Given the description of an element on the screen output the (x, y) to click on. 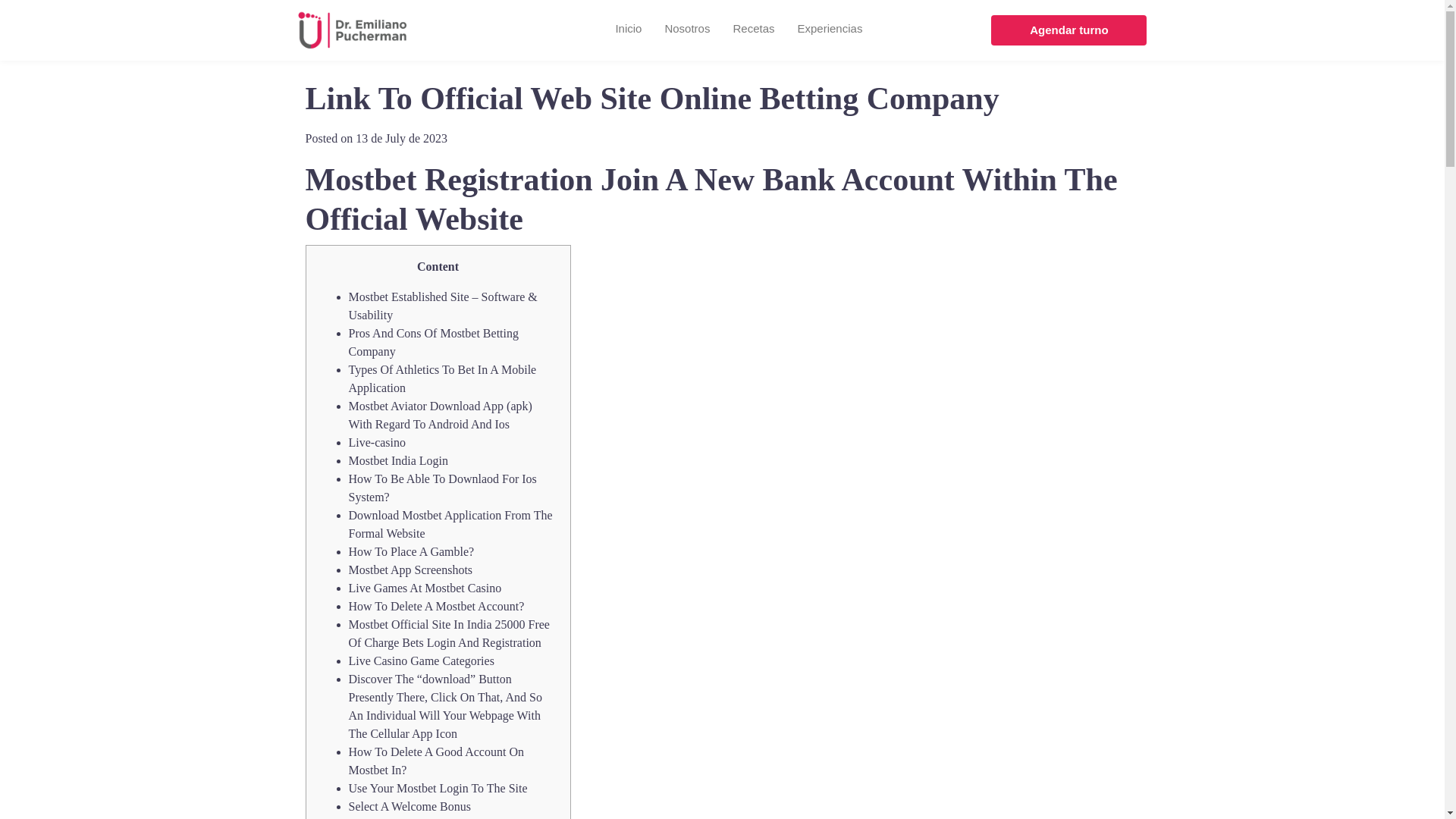
Live-casino (377, 441)
Live Casino Game Categories (422, 660)
Download Mostbet Application From The Formal Website (451, 523)
How To Delete A Mostbet Account? (436, 605)
Nosotros (686, 30)
How To Place A Gamble? (411, 551)
How To Be Able To Downlaod For Ios System? (443, 487)
Types Of Athletics To Bet In A Mobile Application (443, 378)
Mostbet India Login (398, 460)
Recetas (753, 30)
Mostbet App Screenshots (411, 569)
Live Games At Mostbet Casino (425, 587)
Inicio (628, 30)
Pros And Cons Of Mostbet Betting Company (433, 341)
Agendar turno (1069, 30)
